Given the description of an element on the screen output the (x, y) to click on. 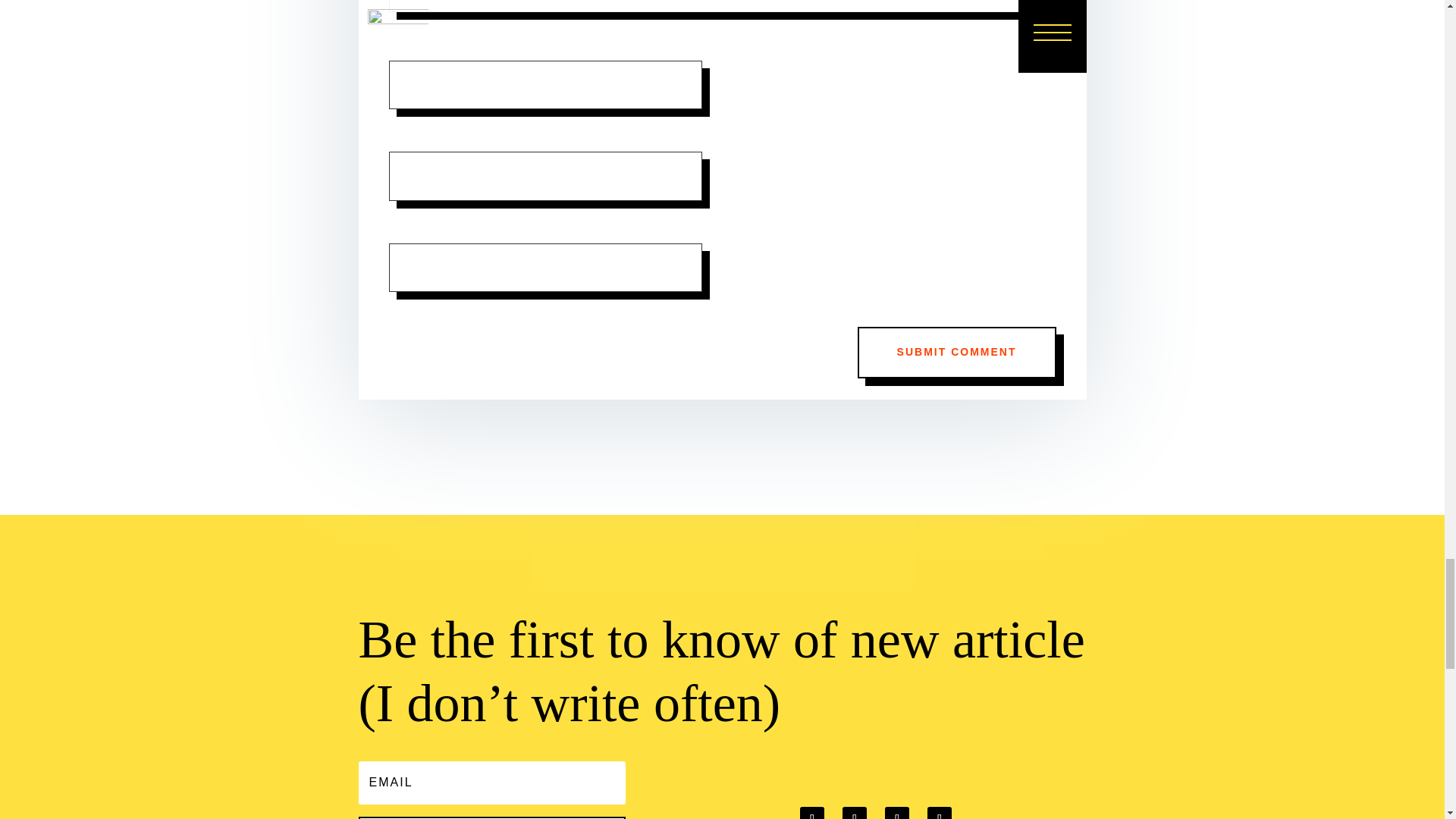
Follow on X (854, 812)
SUBMIT COMMENT (957, 352)
freelance-writer-22 (401, 624)
Follow on Facebook (811, 812)
